Given the description of an element on the screen output the (x, y) to click on. 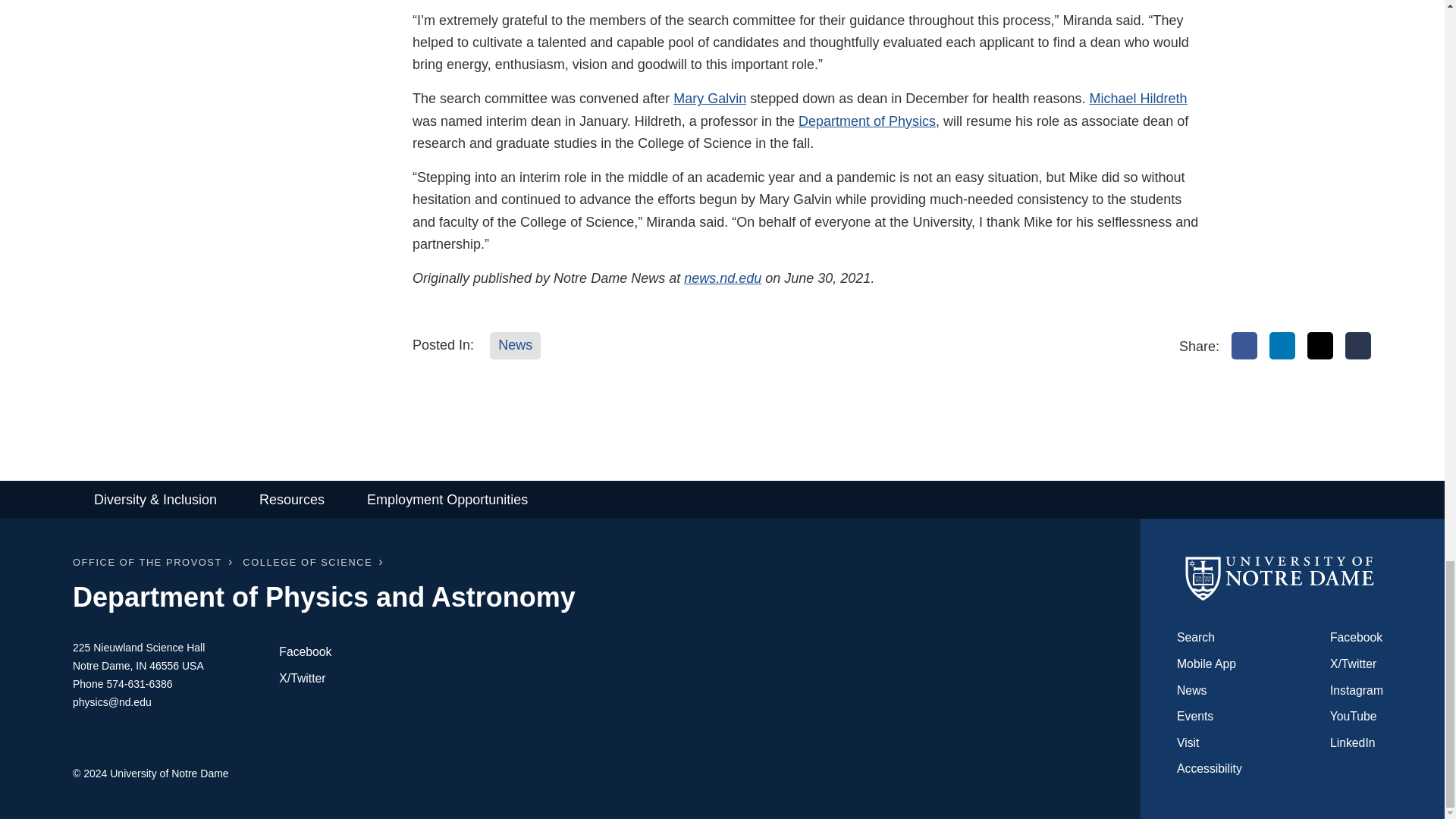
Email (1358, 345)
LinkedIn (1282, 345)
Facebook (1244, 345)
